Given the description of an element on the screen output the (x, y) to click on. 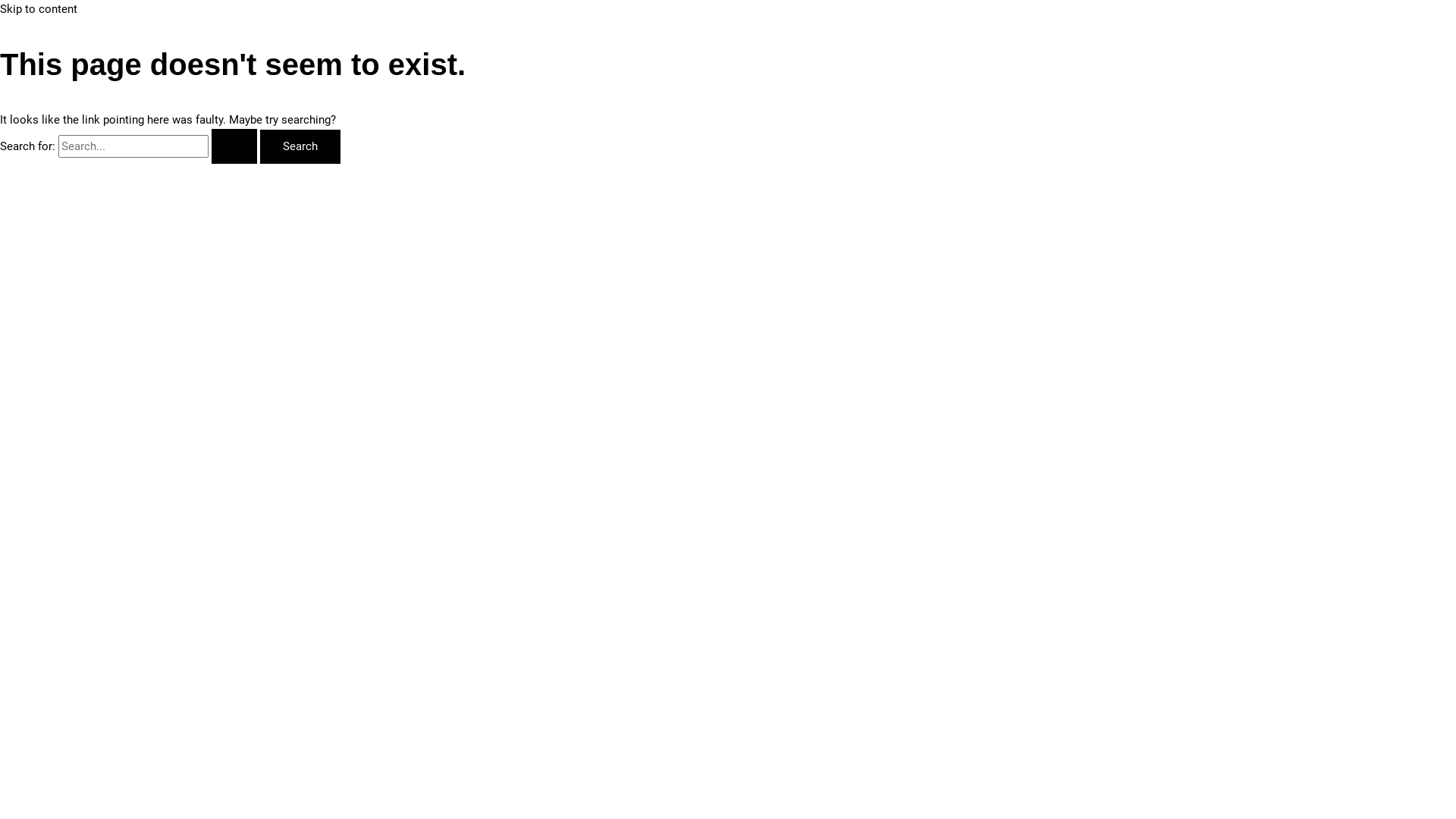
Search Element type: text (300, 146)
Skip to content Element type: text (38, 8)
